Given the description of an element on the screen output the (x, y) to click on. 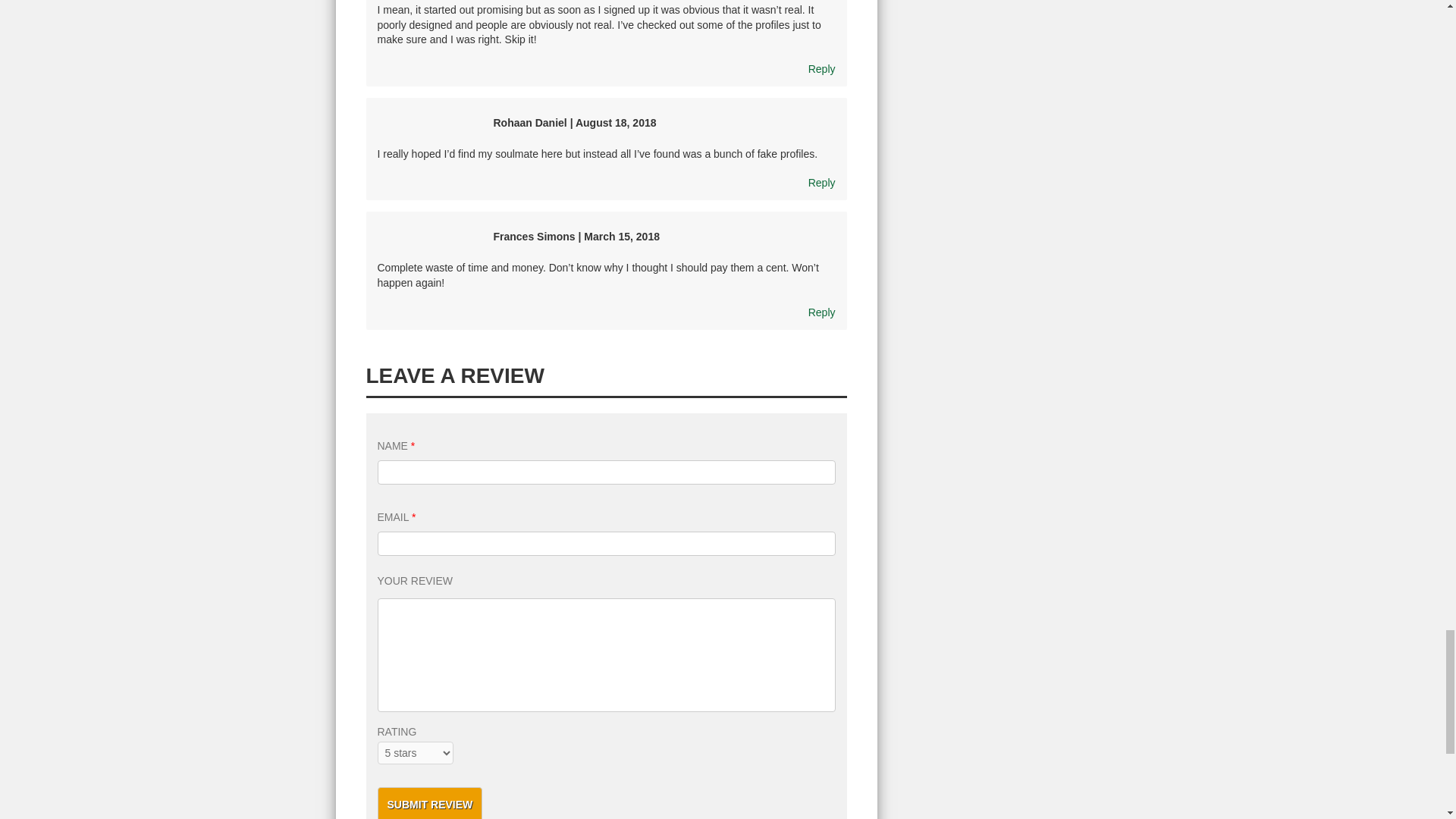
Reply (821, 312)
Submit review (430, 803)
Submit review (430, 803)
Reply (821, 182)
Reply (821, 69)
